Given the description of an element on the screen output the (x, y) to click on. 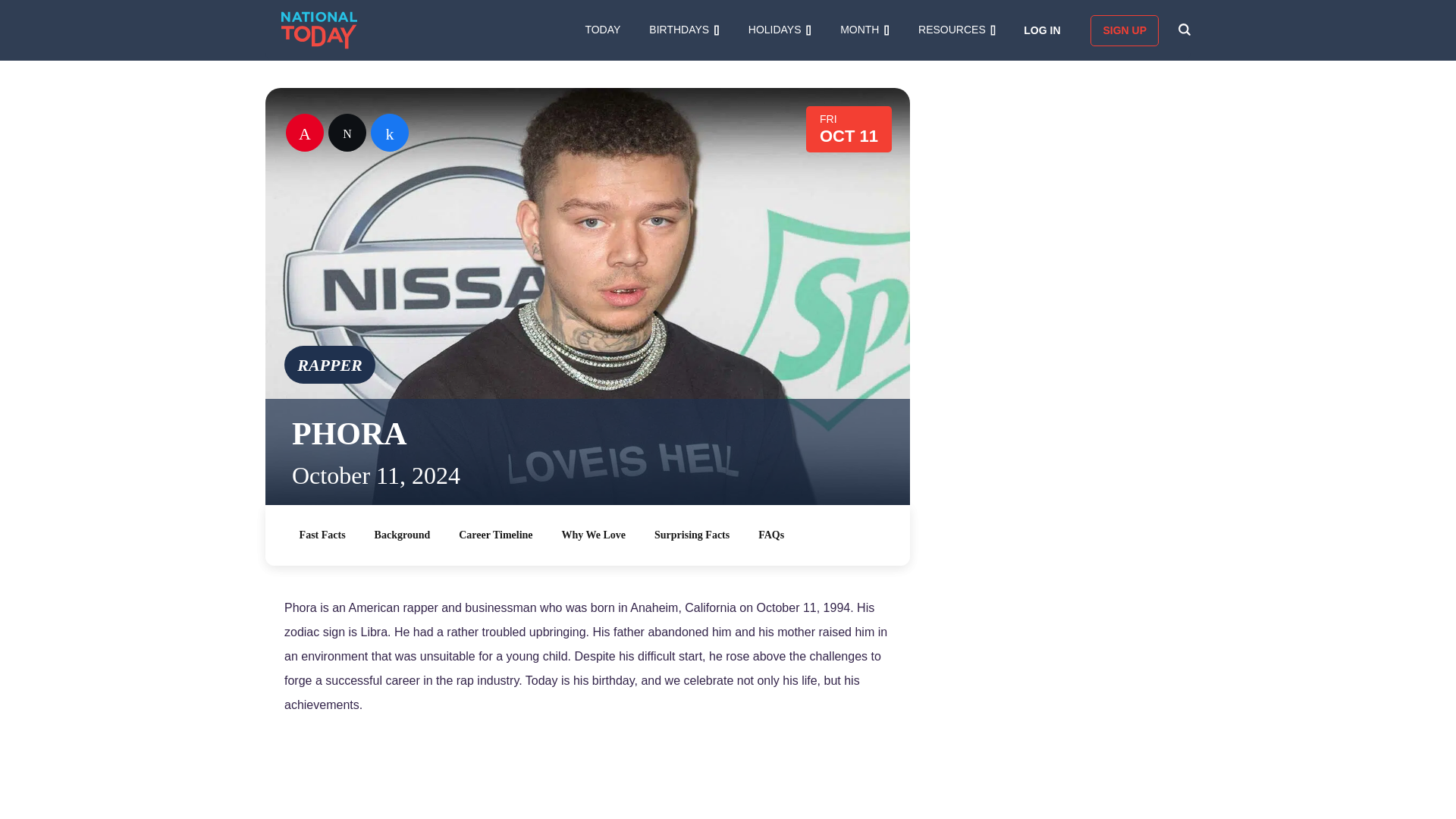
National Today (318, 30)
TODAY (602, 29)
National Today (318, 30)
SEARCH (1184, 29)
BIRTHDAYS (684, 29)
HOLIDAYS (779, 29)
MONTH (864, 29)
